Given the description of an element on the screen output the (x, y) to click on. 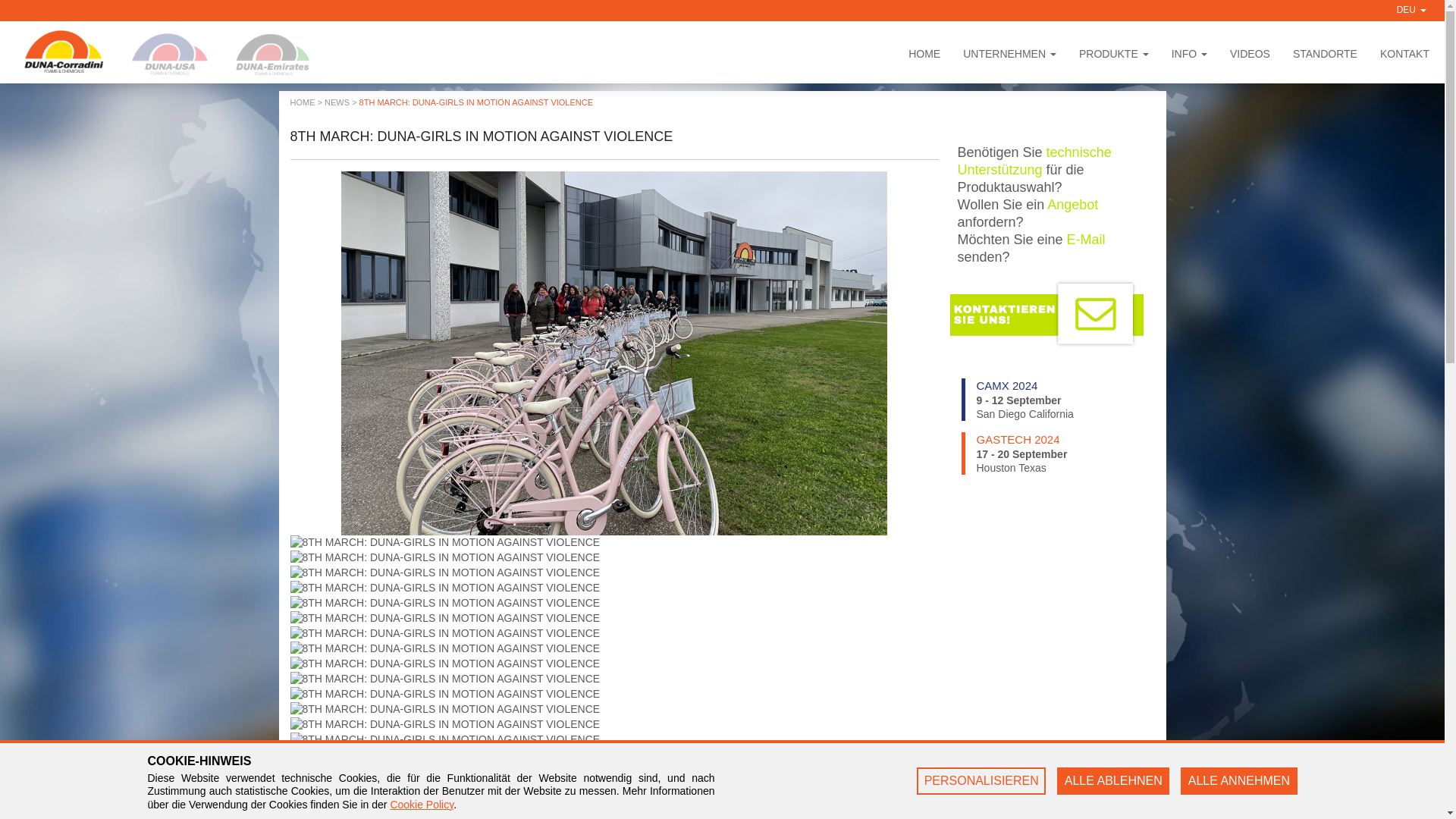
Produkte - Duna Corradini (1113, 55)
KONTAKT (1404, 55)
Home - Duna Corradini (1046, 399)
Unternehmen - Duna Corradini (924, 55)
PRODUKTE (1009, 55)
DUNA-Group (1113, 55)
NEWS (169, 55)
HOME (336, 102)
Duna Corradini (301, 102)
STANDORTE (59, 49)
UNTERNEHMEN (1324, 55)
DEU (1009, 55)
DUNA-Group (1406, 10)
